Given the description of an element on the screen output the (x, y) to click on. 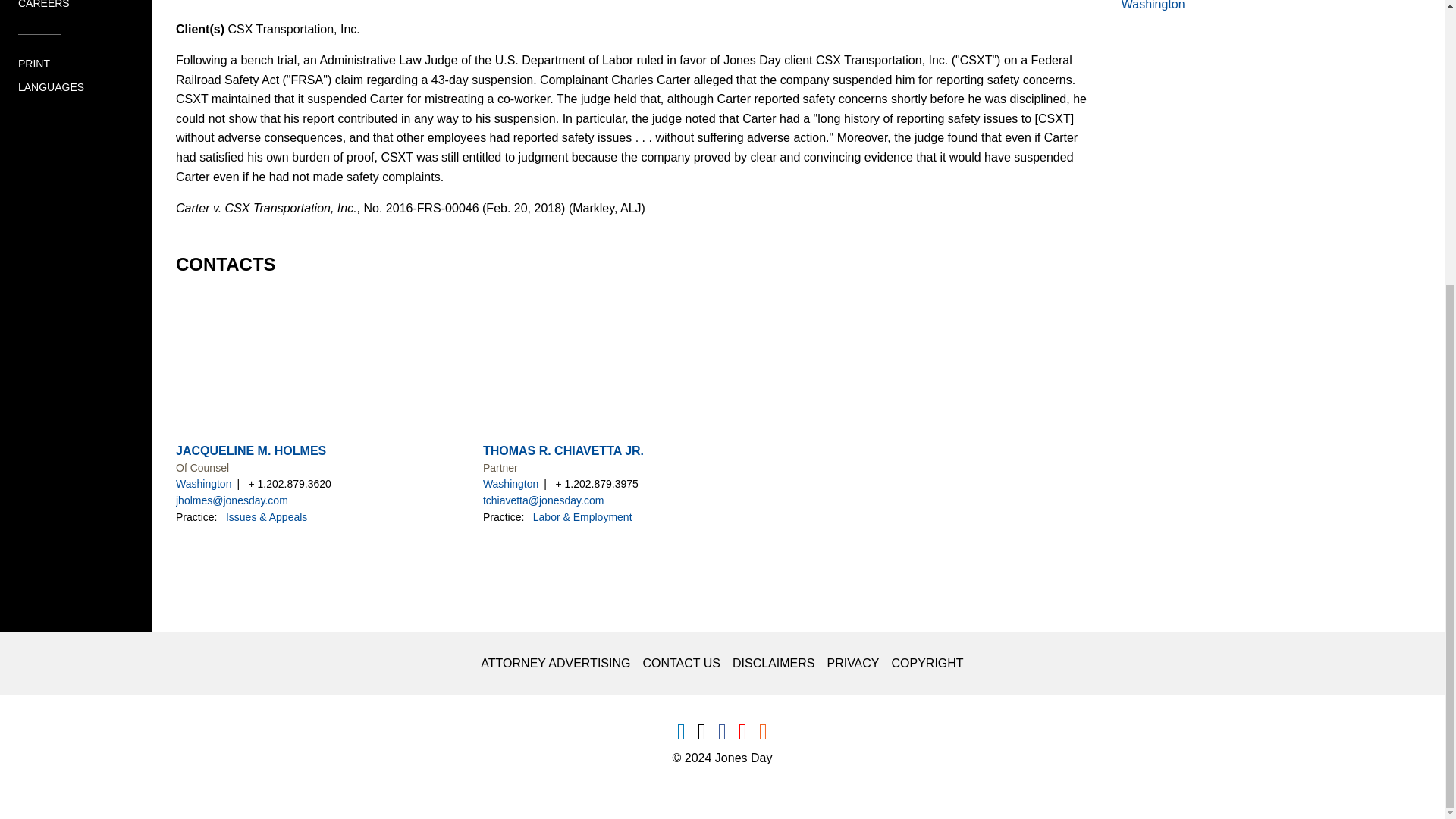
PRINT (33, 63)
LANGUAGES (50, 87)
CAREERS (43, 4)
